Given the description of an element on the screen output the (x, y) to click on. 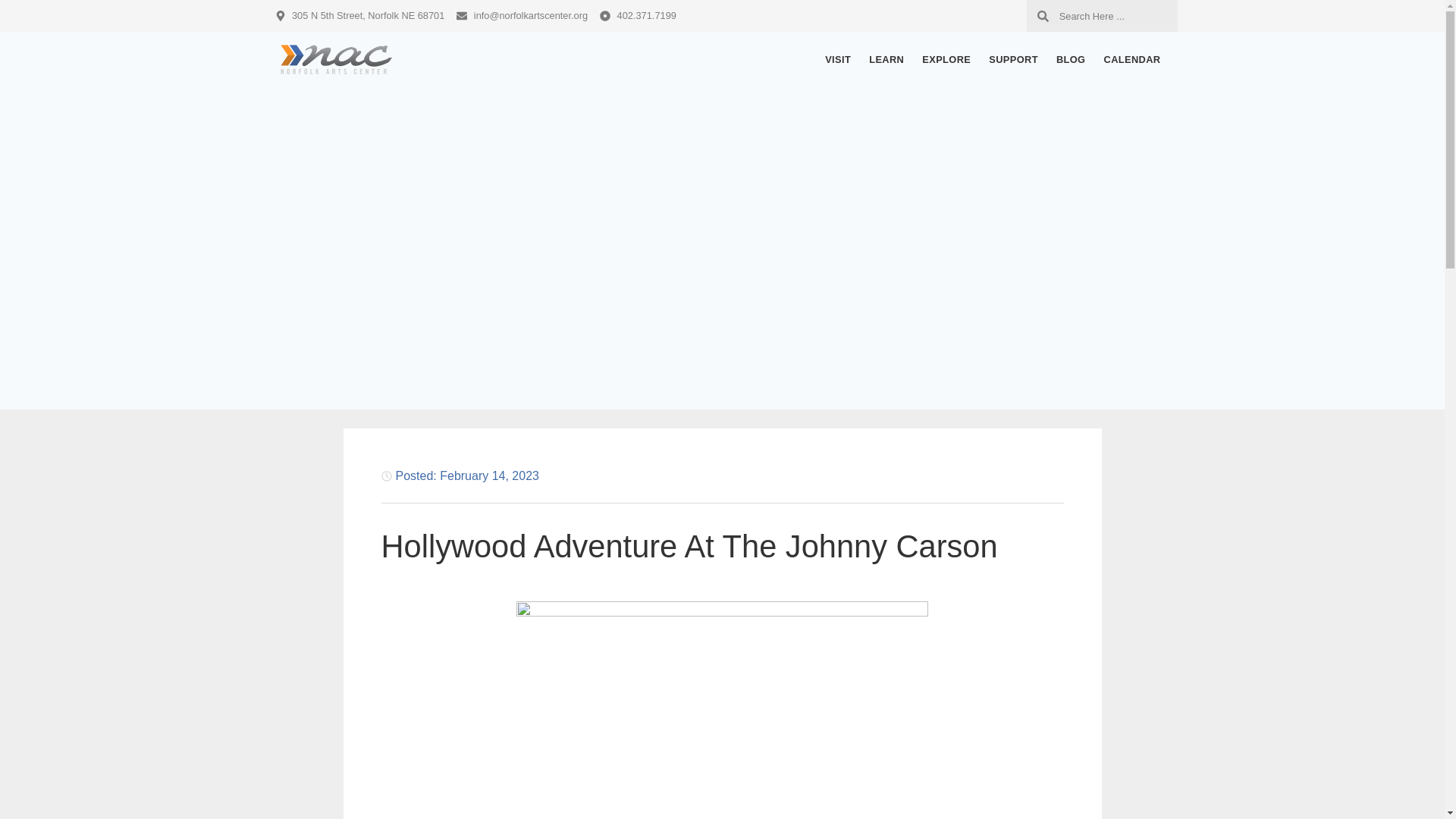
EXPLORE (945, 59)
SUPPORT (1012, 59)
VISIT (837, 59)
LEARN (886, 59)
